Given the description of an element on the screen output the (x, y) to click on. 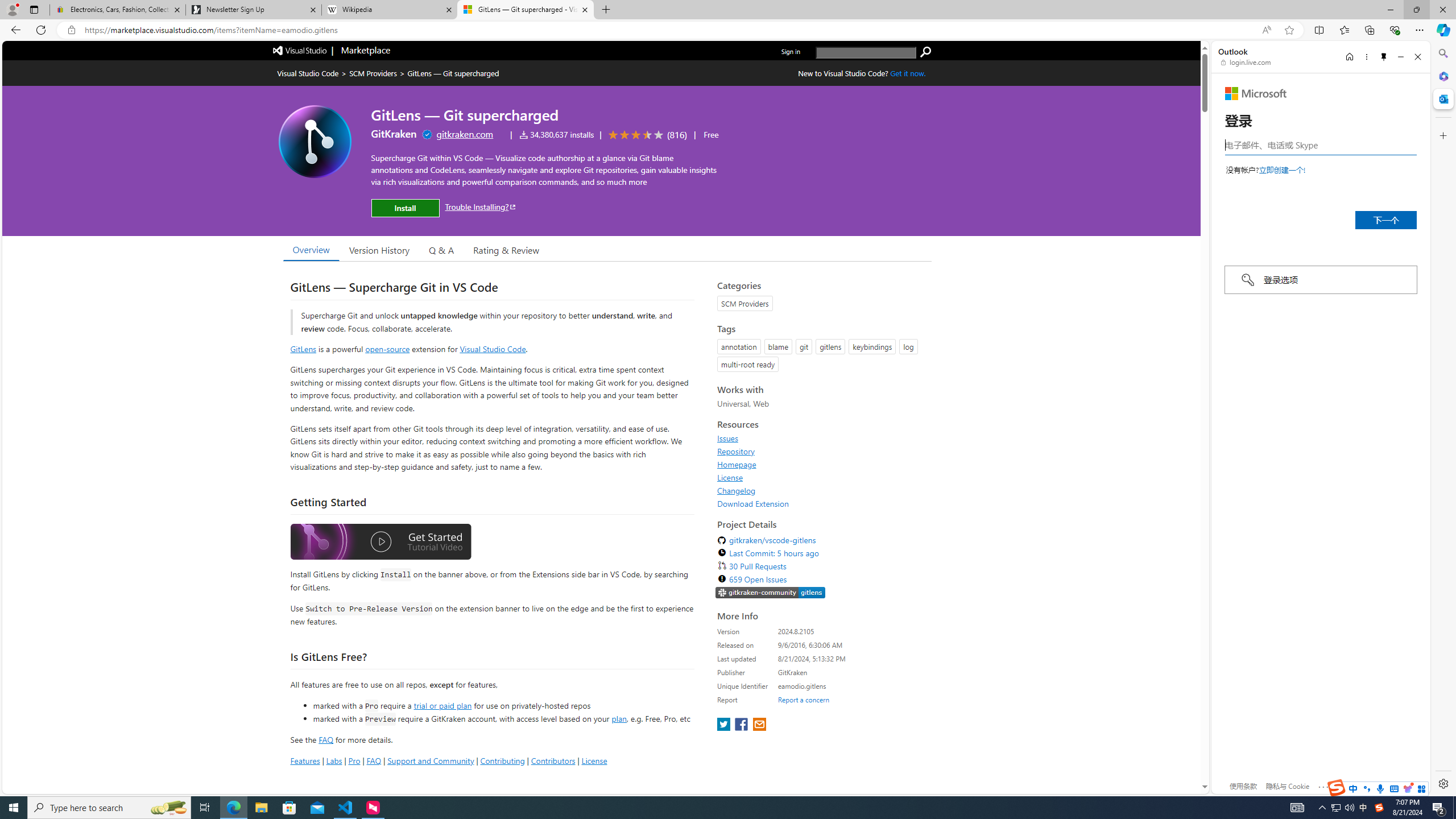
FAQ (373, 760)
Features (304, 760)
License (729, 477)
Changelog (736, 490)
Outlook (1442, 98)
Visual Studio logo Marketplace logo (330, 50)
Issues (727, 437)
Install (405, 208)
Visual Studio logo (300, 49)
